Given the description of an element on the screen output the (x, y) to click on. 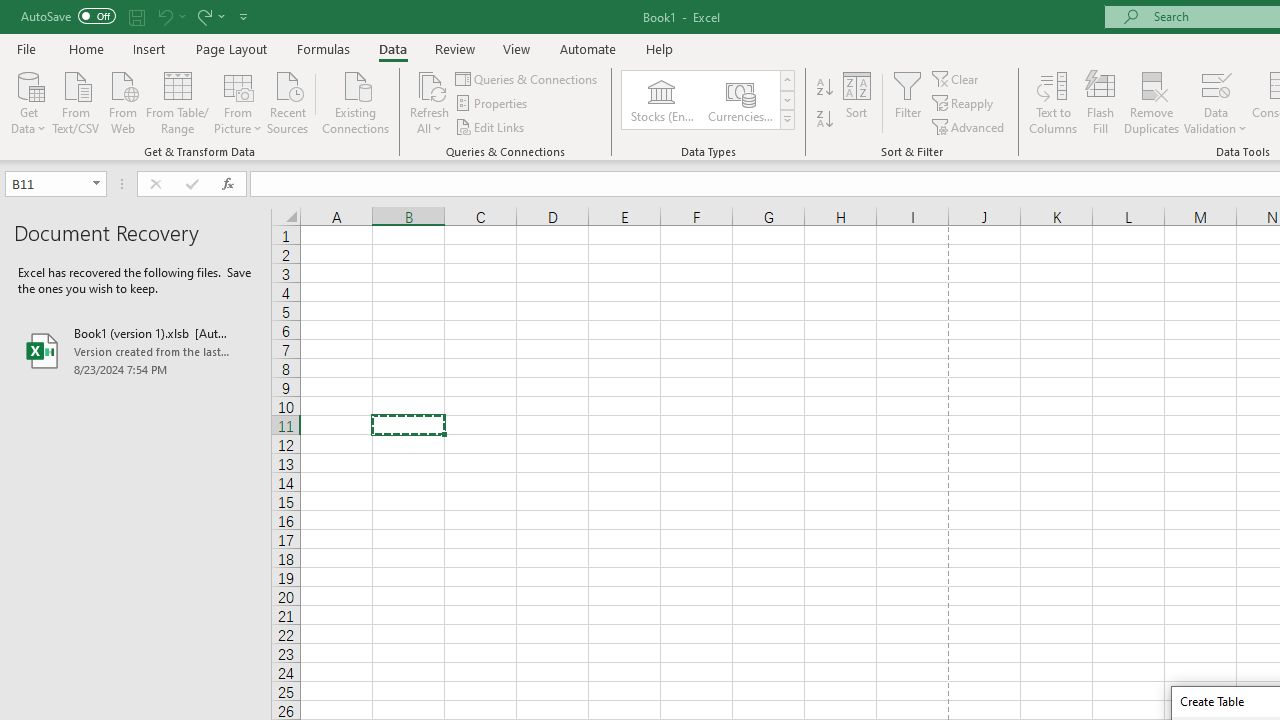
Data Validation... (1215, 84)
From Web (122, 101)
Edit Links (491, 126)
Automate (588, 48)
Filter (908, 102)
Sort... (856, 102)
Data Validation... (1215, 102)
